Given the description of an element on the screen output the (x, y) to click on. 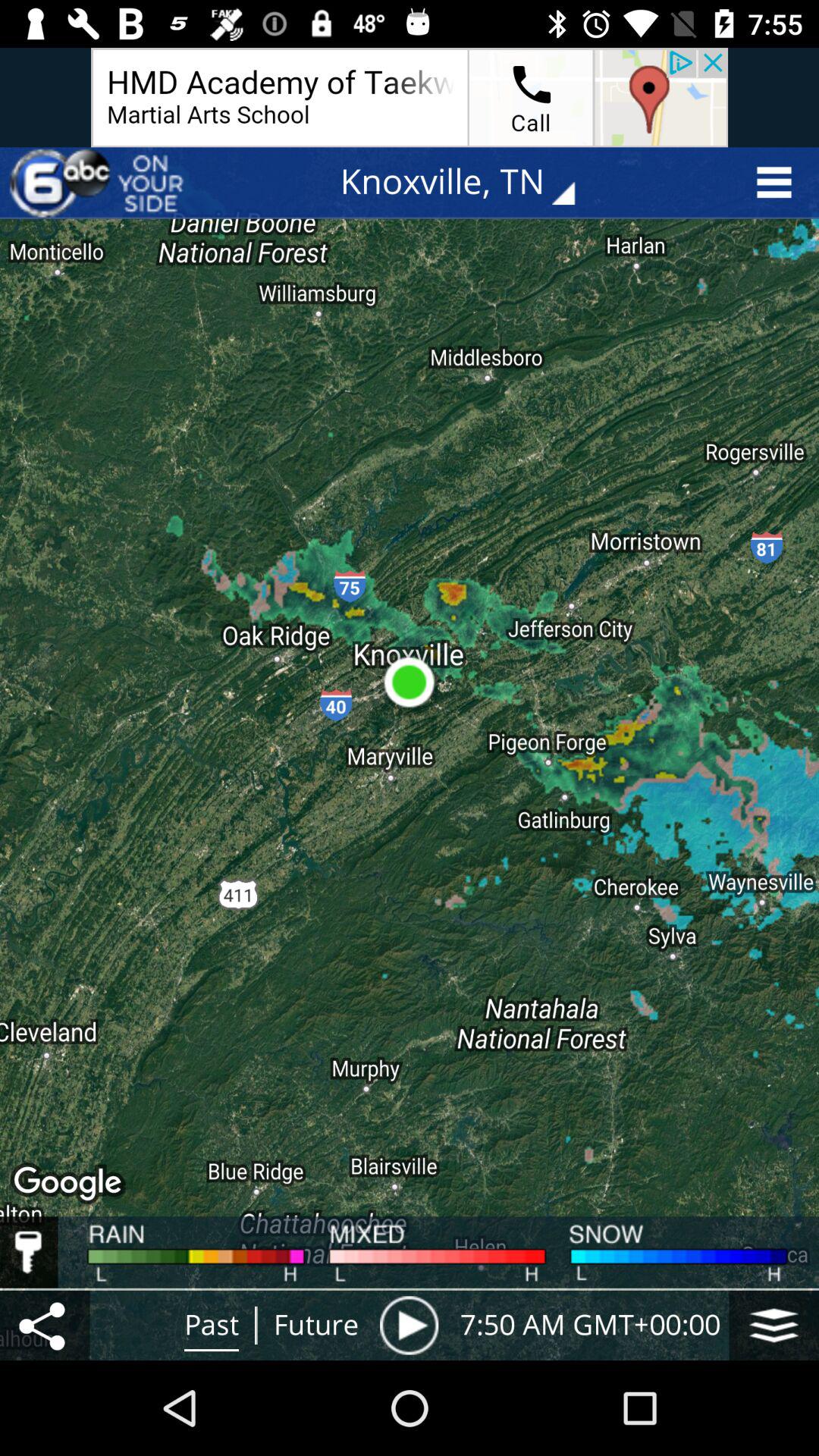
press item next to future (409, 1325)
